Given the description of an element on the screen output the (x, y) to click on. 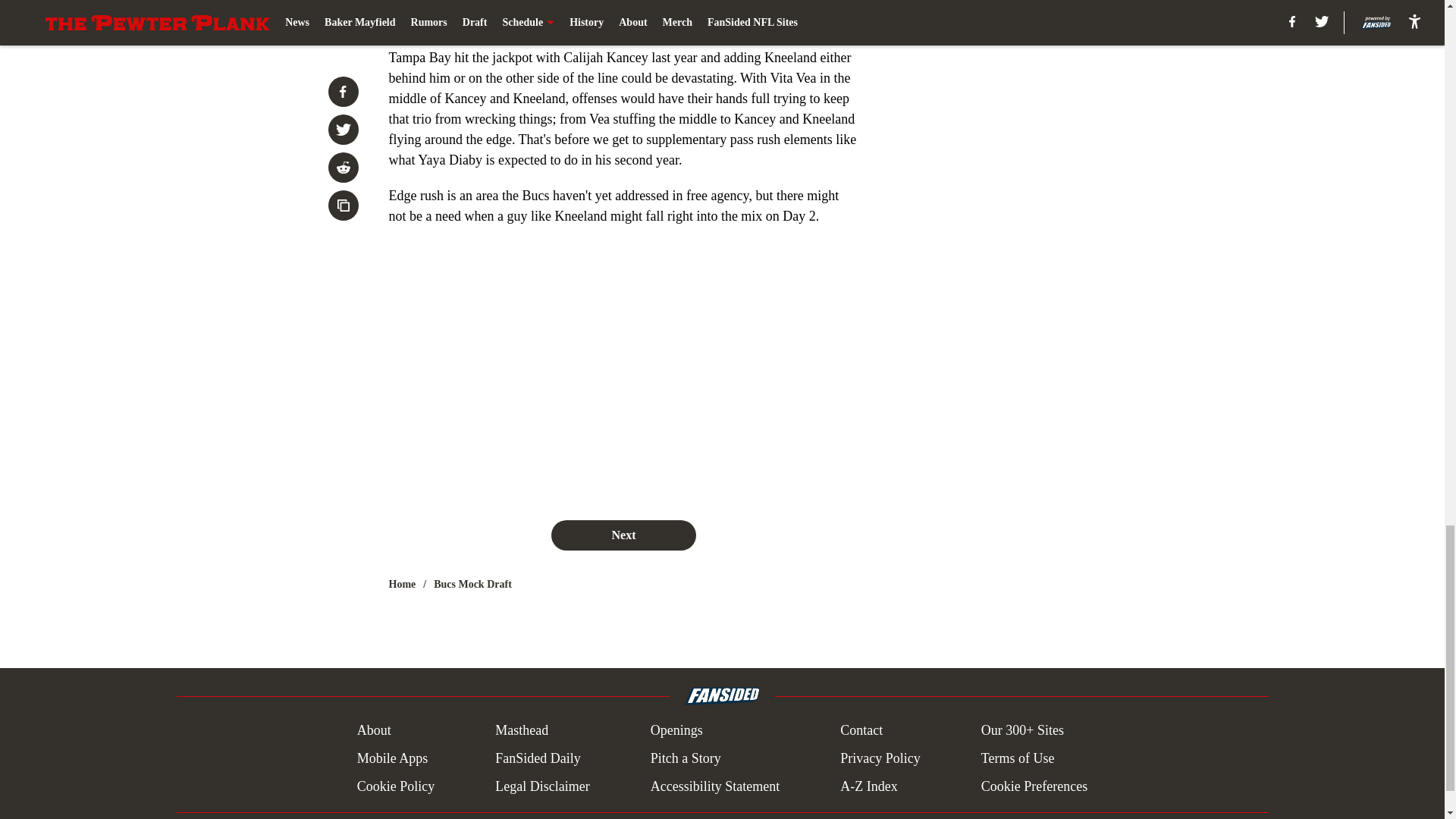
Bucs Mock Draft (472, 584)
Openings (676, 730)
Home (401, 584)
Masthead (521, 730)
Privacy Policy (880, 758)
About (373, 730)
Next (622, 535)
Pitch a Story (685, 758)
Contact (861, 730)
Mobile Apps (392, 758)
FanSided Daily (537, 758)
